Given the description of an element on the screen output the (x, y) to click on. 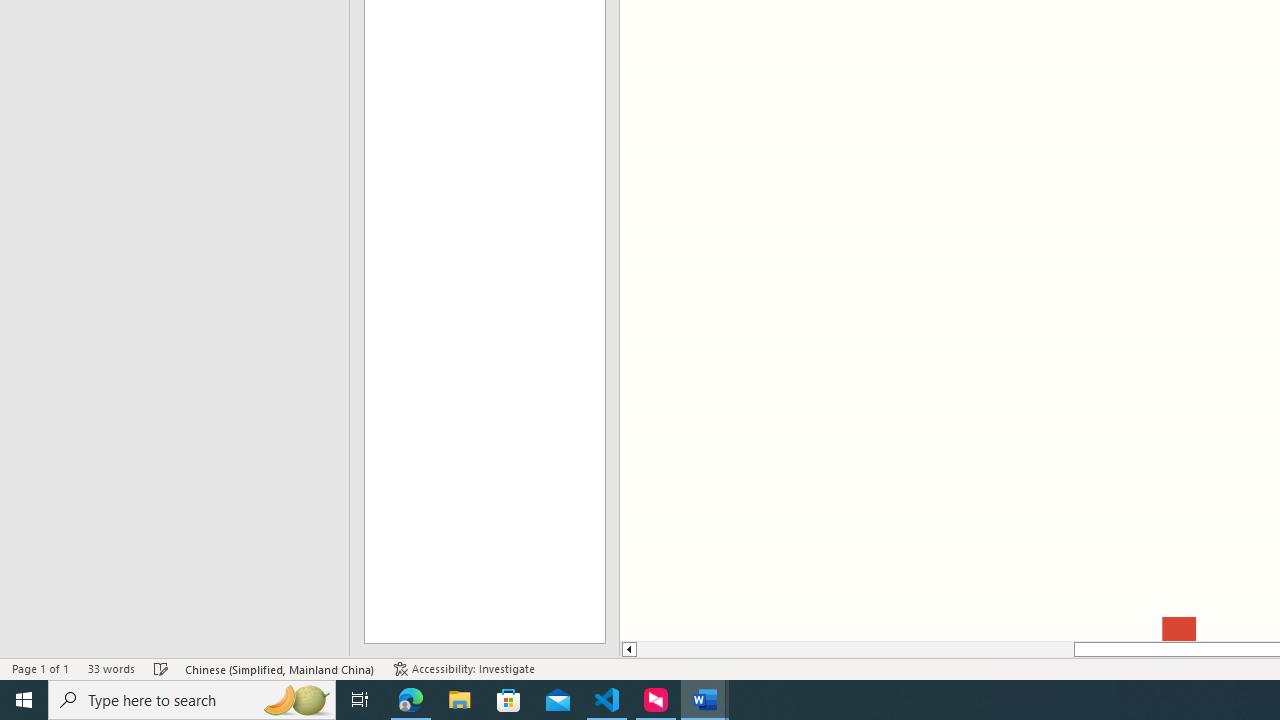
Page left (855, 649)
Column left (628, 649)
Page Number Page 1 of 1 (39, 668)
Spelling and Grammar Check Checking (161, 668)
